Given the description of an element on the screen output the (x, y) to click on. 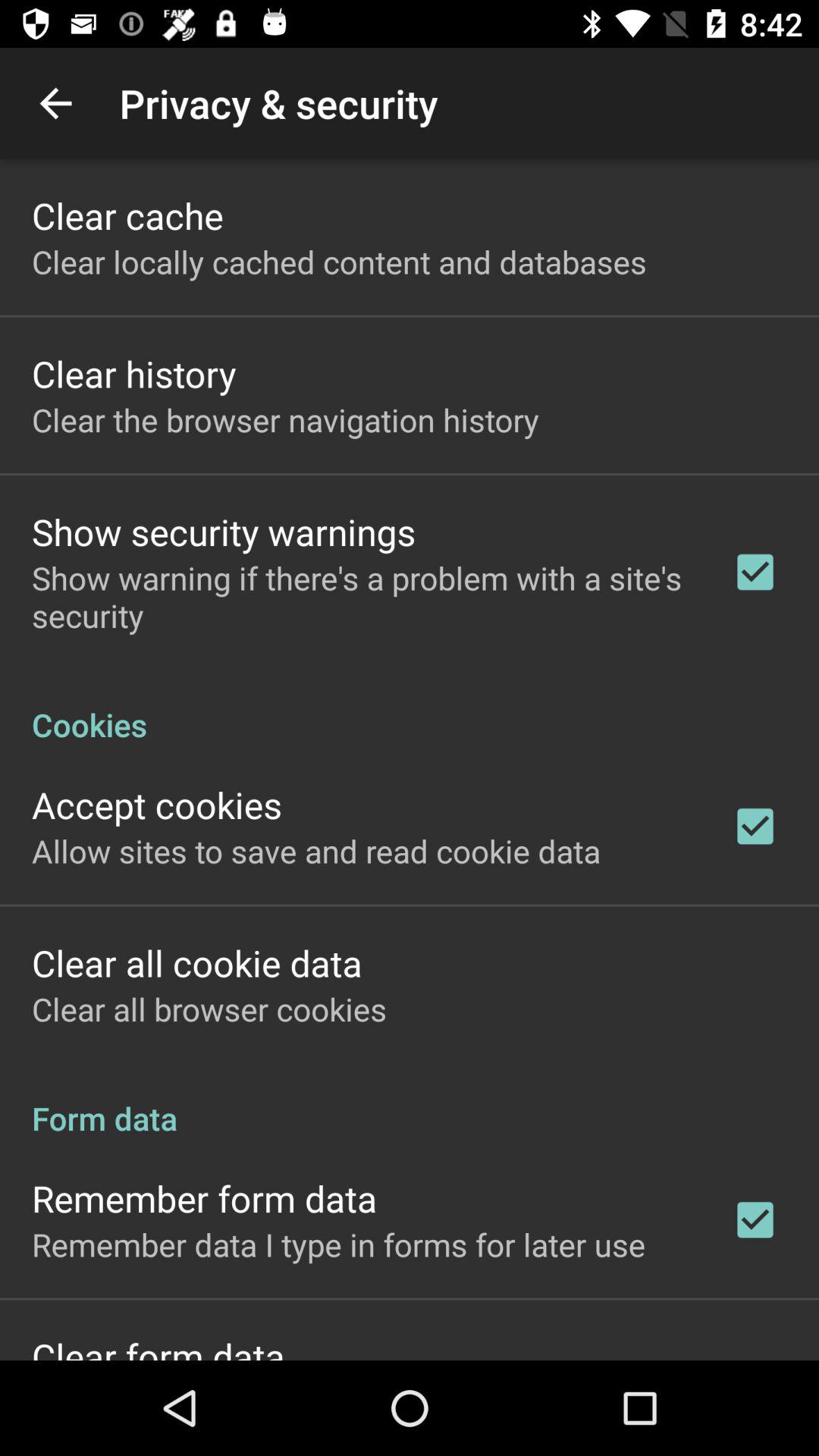
flip to the accept cookies item (156, 804)
